Given the description of an element on the screen output the (x, y) to click on. 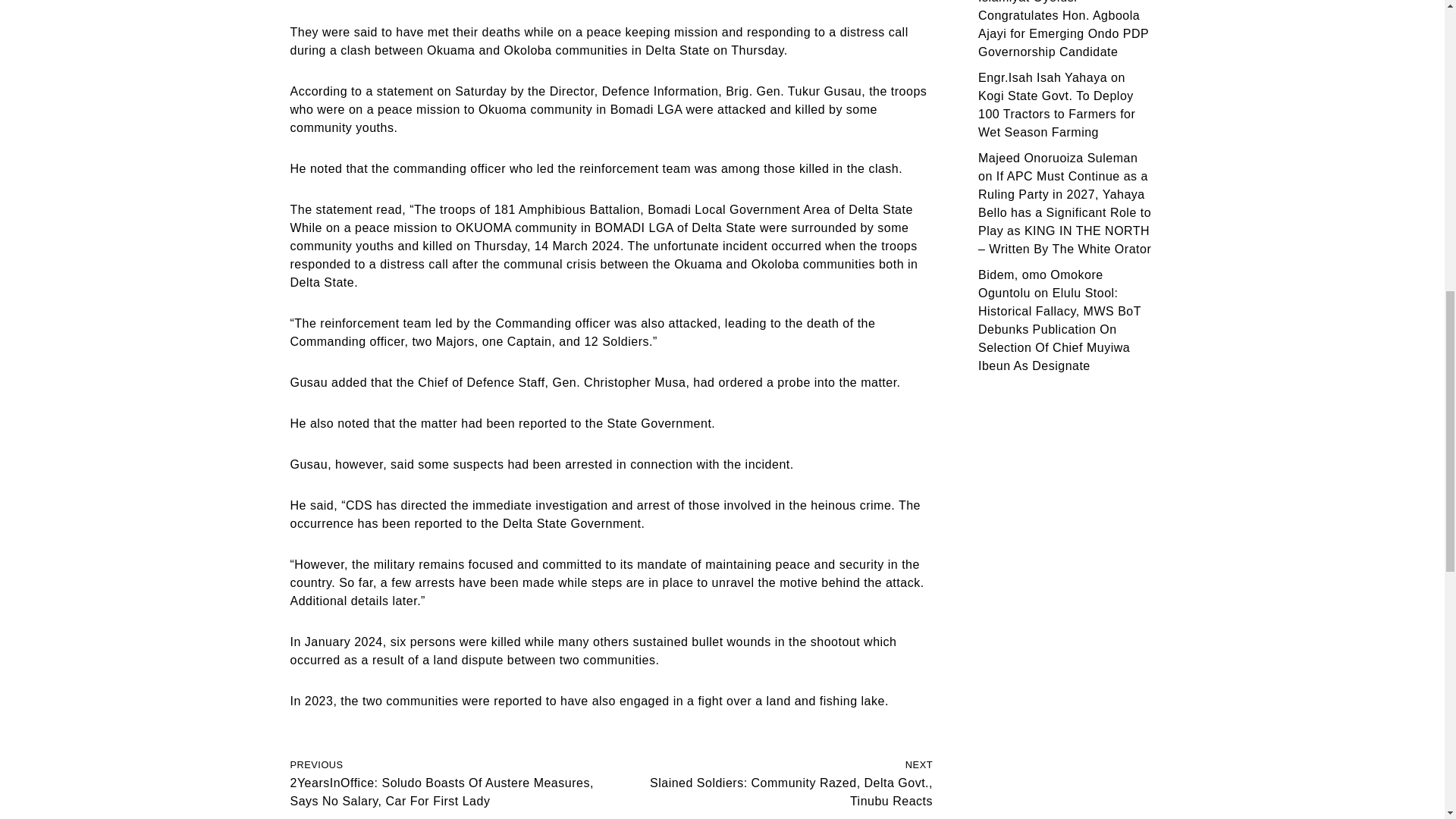
Engr.Isah Isah Yahaya (1042, 77)
